Given the description of an element on the screen output the (x, y) to click on. 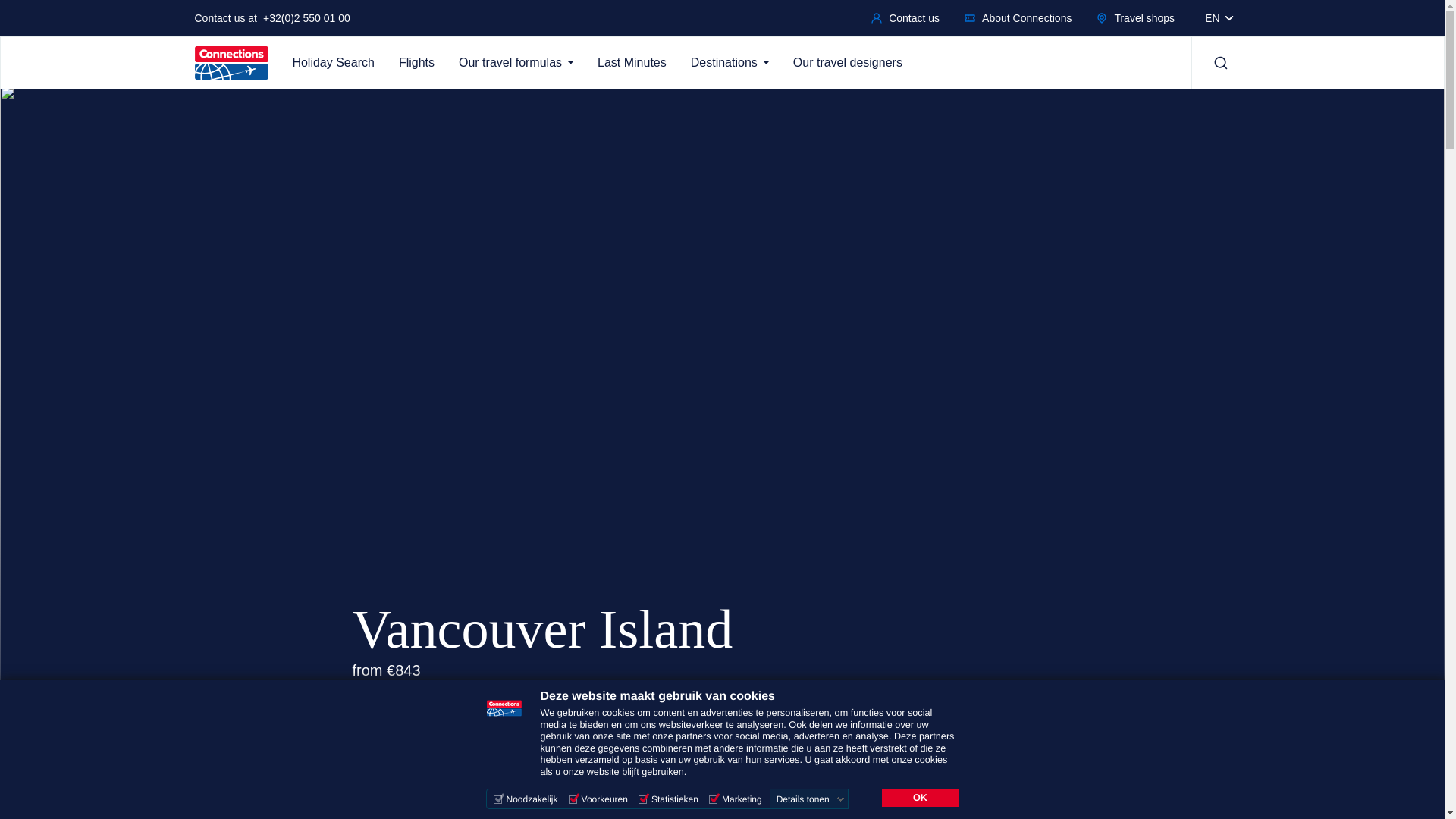
Details tonen (810, 799)
OK (919, 798)
